Given the description of an element on the screen output the (x, y) to click on. 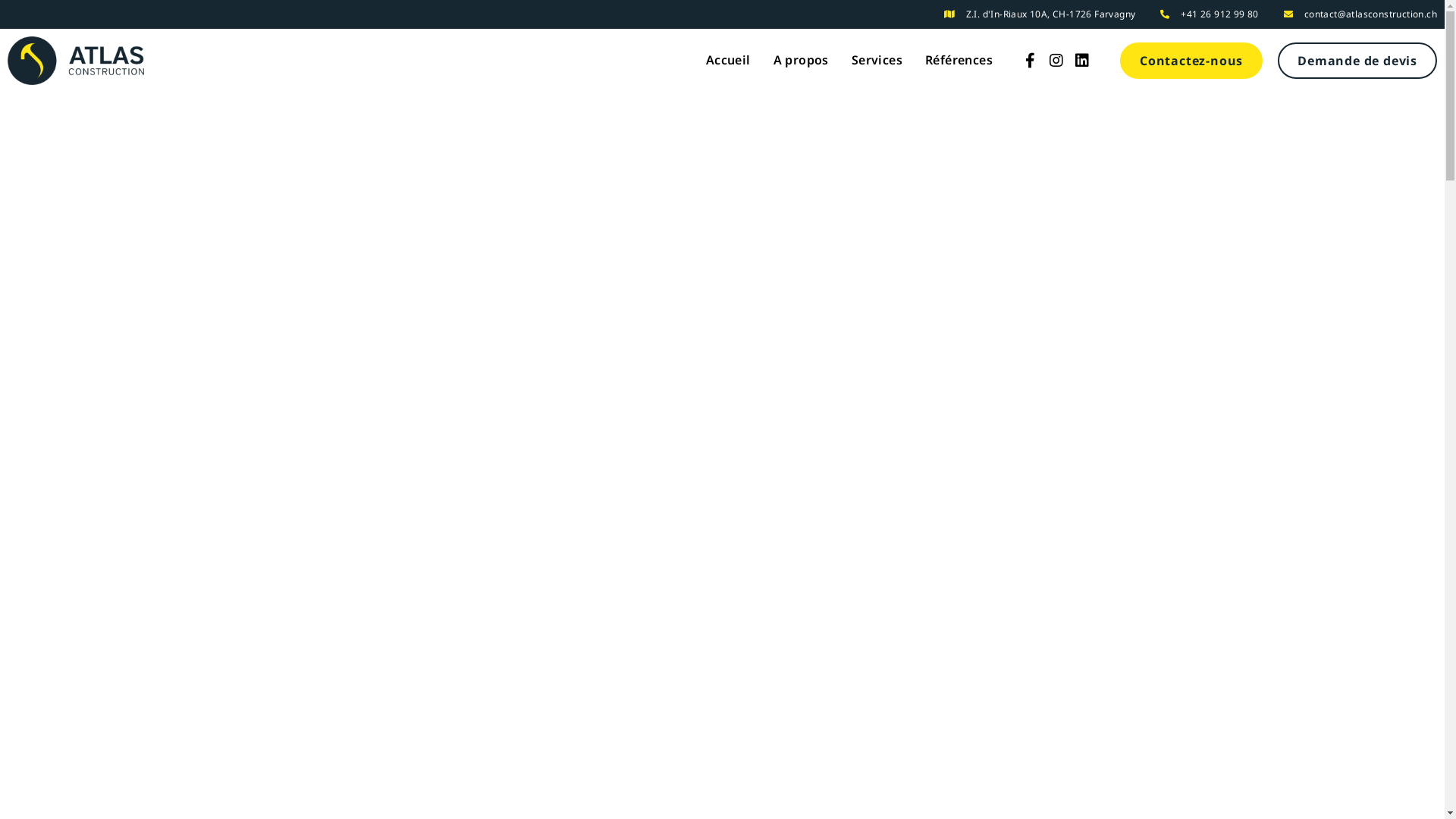
Instagram Element type: text (1055, 60)
Services Element type: text (876, 60)
contact@atlasconstruction.ch Element type: text (1370, 14)
Contactez-nous Element type: text (1191, 60)
Linkedin Element type: text (1081, 60)
Facebook-f Element type: text (1030, 60)
Accueil Element type: text (728, 60)
+41 26 912 99 80 Element type: text (1219, 14)
A propos Element type: text (800, 60)
Demande de devis Element type: text (1357, 60)
